Given the description of an element on the screen output the (x, y) to click on. 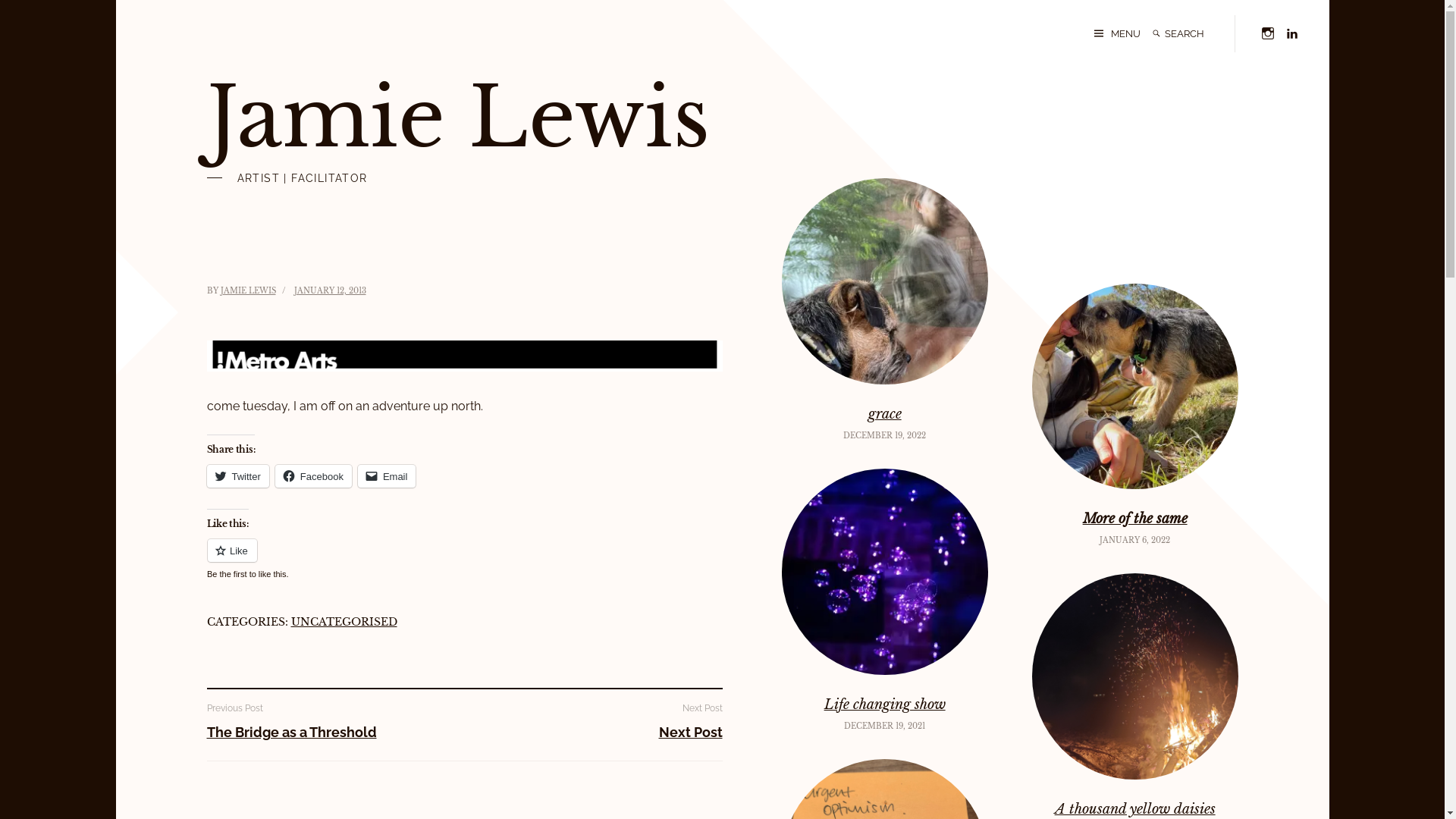
DECEMBER 19, 2022 Element type: text (884, 435)
Previous Post
The Bridge as a Threshold Element type: text (327, 720)
MENU Element type: text (1116, 33)
More of the same Element type: text (1135, 518)
Life changing show Element type: text (884, 704)
Next Post
Next Post Element type: text (600, 720)
Twitter Element type: text (237, 475)
Instagram Element type: text (1267, 32)
JANUARY 6, 2022 Element type: text (1134, 540)
Search for: Element type: hover (1195, 33)
Like or Reblog Element type: hover (463, 559)
Email Element type: text (386, 475)
UNCATEGORISED Element type: text (344, 621)
JAMIE LEWIS Element type: text (247, 290)
JANUARY 12, 2013 Element type: text (330, 290)
DECEMBER 19, 2021 Element type: text (884, 726)
Facebook Element type: text (313, 475)
Jamie Lewis Element type: text (457, 117)
Search Element type: text (1155, 33)
Linkedin Element type: text (1291, 32)
grace Element type: text (884, 413)
